Given the description of an element on the screen output the (x, y) to click on. 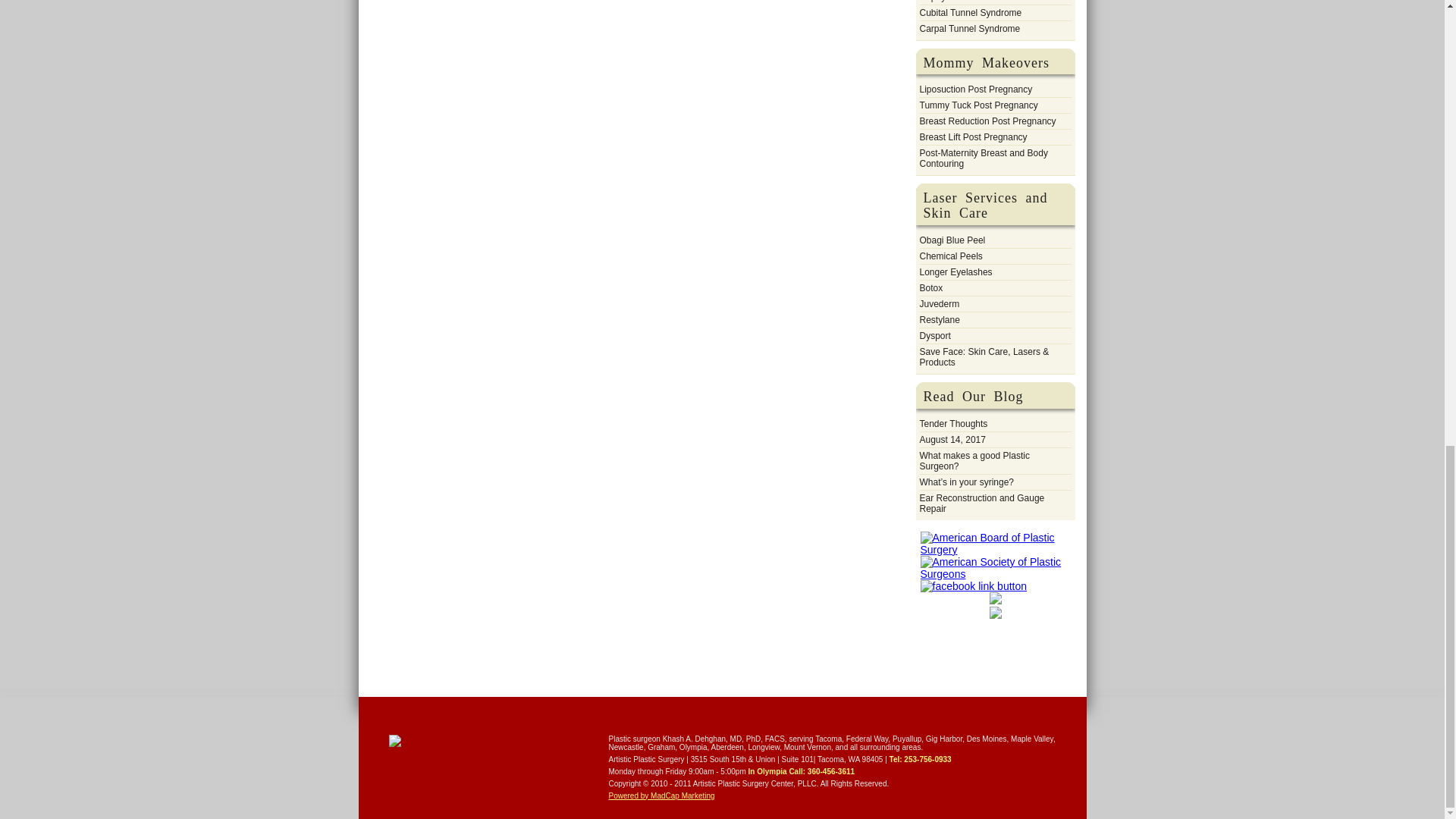
Liposuction Post Pregnancy (975, 89)
Carpal Tunnel Syndrome (969, 28)
Breast Reduction Post Pregnancy (986, 120)
Cubital Tunnel Syndrome (970, 12)
Become an Artistic Plastic Surgery Fan on Facebook (973, 585)
Post-Maternity Breast and Body Contouring (994, 158)
Tummy Tuck Post Pregnancy (977, 105)
Breast Lift Post Pregnancy (972, 136)
